Given the description of an element on the screen output the (x, y) to click on. 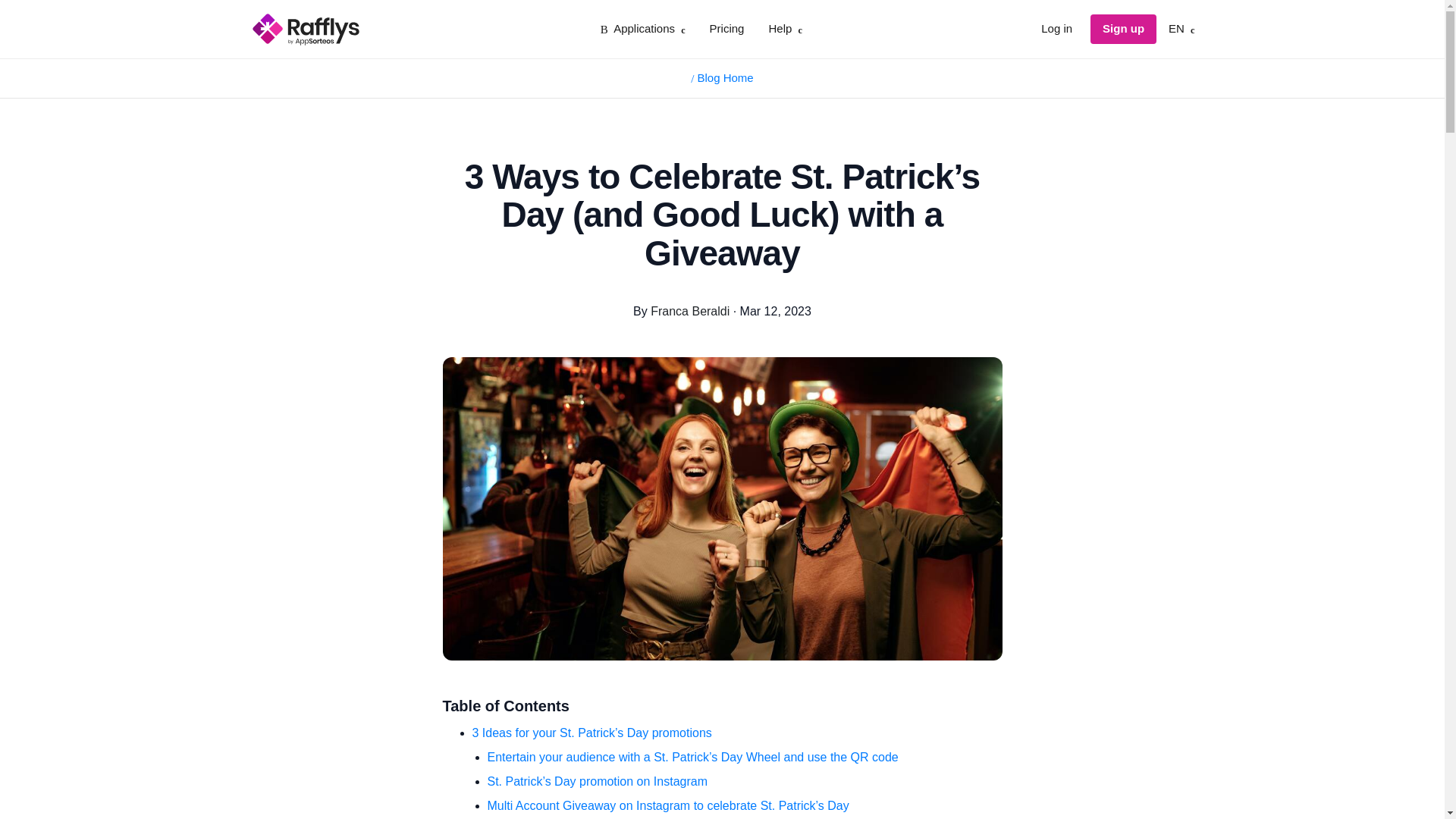
Applications (642, 29)
